Given the description of an element on the screen output the (x, y) to click on. 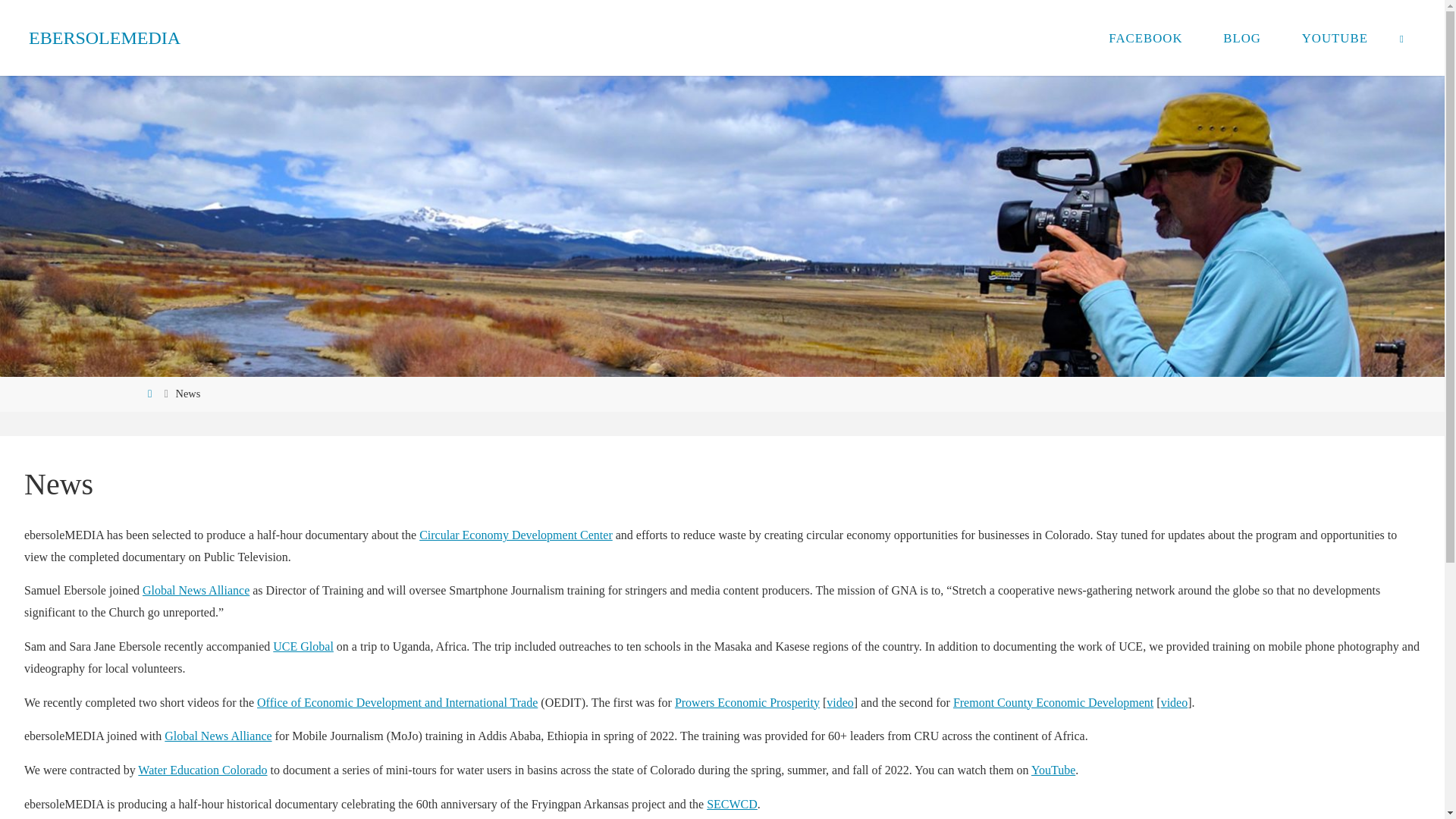
YOUTUBE (1335, 38)
Office of Economic Development and International Trade (397, 702)
Global News Alliance (217, 735)
EBERSOLEMEDIA (104, 37)
Circular Economy Development Center (515, 534)
Prowers Economic Prosperity (747, 702)
UCE Global (303, 645)
video (840, 702)
Global News Alliance (195, 590)
FACEBOOK (1144, 38)
